Given the description of an element on the screen output the (x, y) to click on. 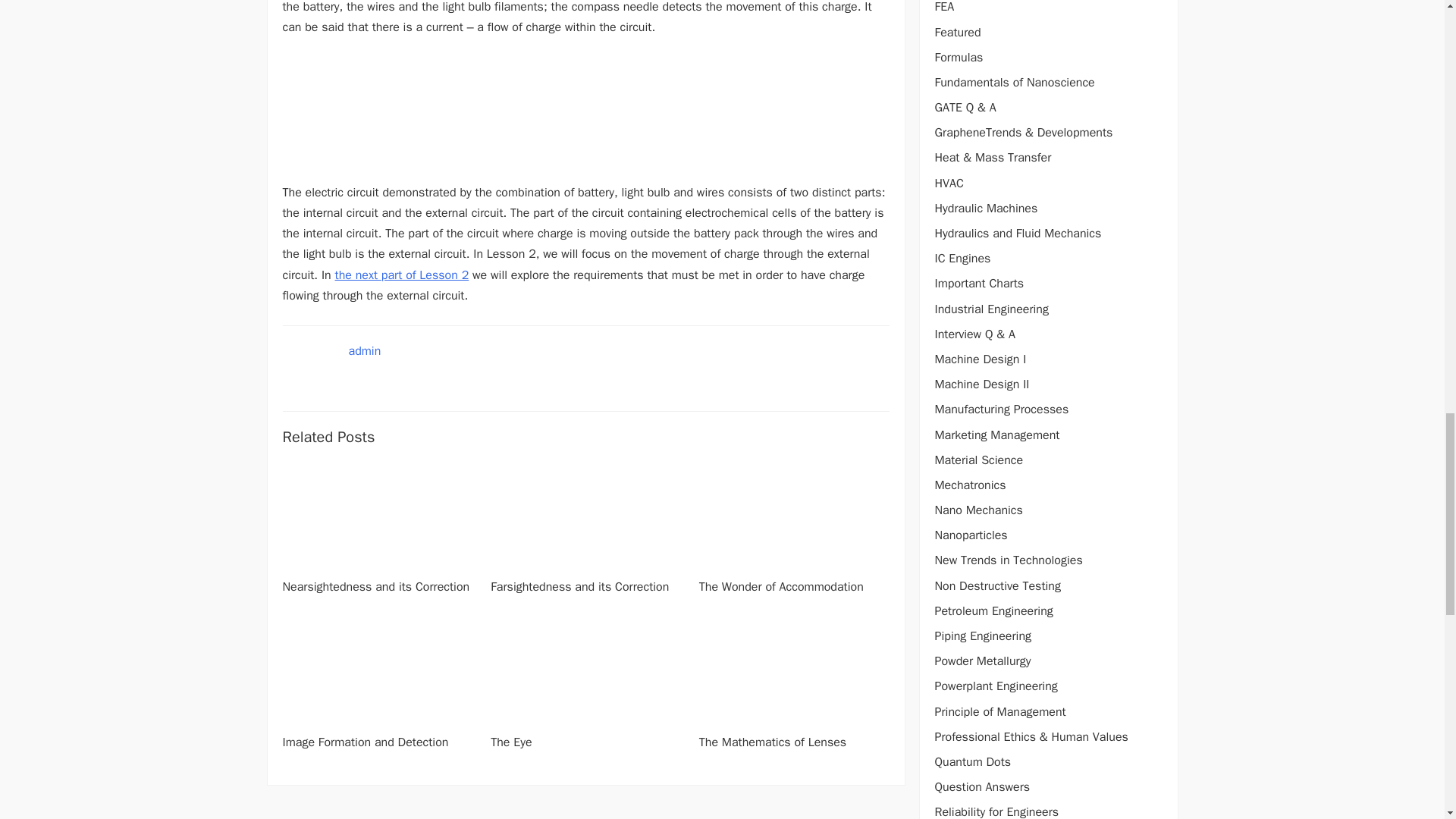
Image Formation and Detection (365, 742)
Nearsightedness and its Correction (375, 586)
admin (365, 350)
The Mathematics of Lenses (771, 742)
Farsightedness and its Correction (579, 586)
The Eye (510, 742)
the next part of Lesson 2 (401, 274)
The Wonder of Accommodation (780, 586)
